Given the description of an element on the screen output the (x, y) to click on. 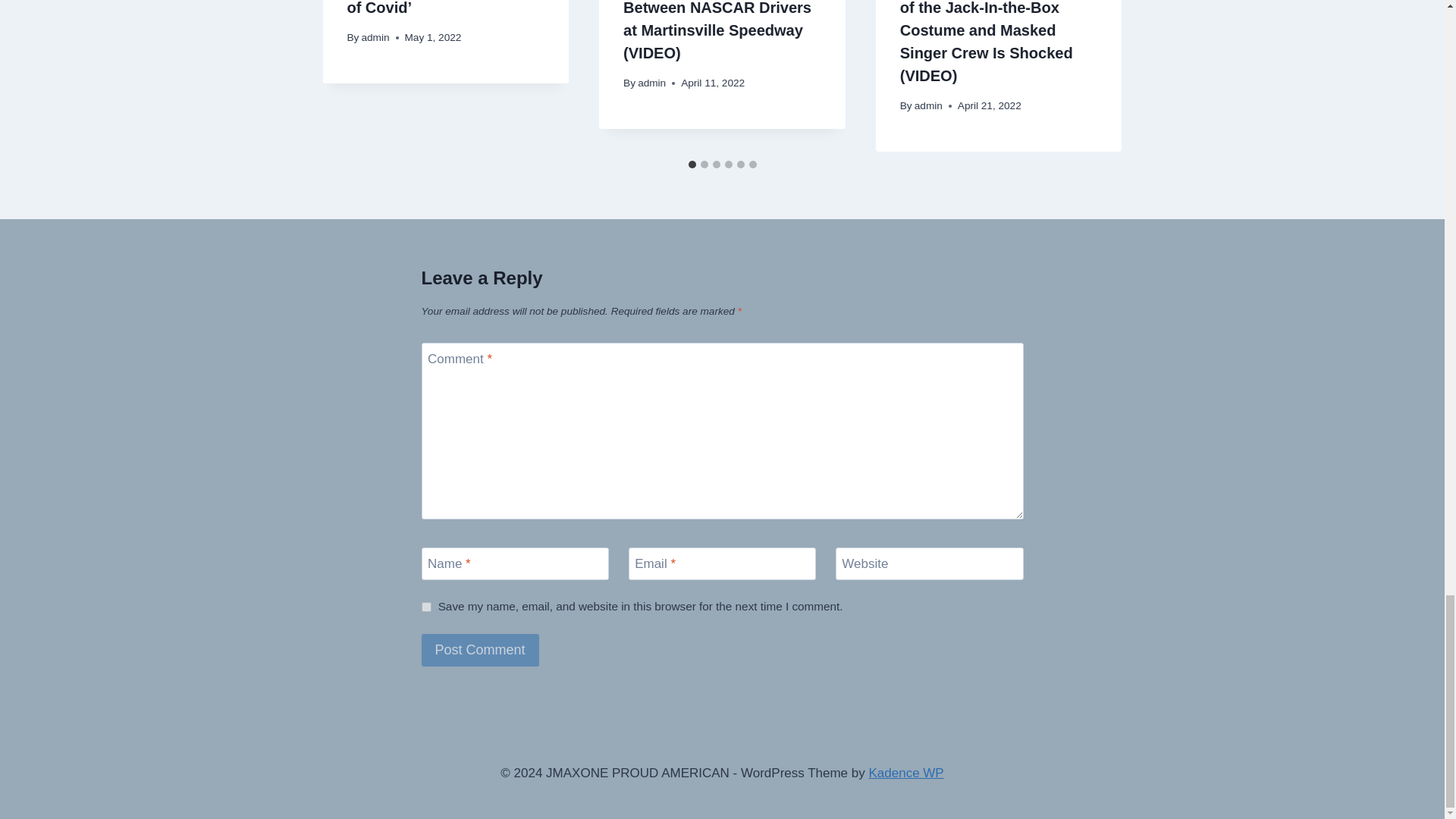
yes (426, 606)
Post Comment (480, 649)
